Given the description of an element on the screen output the (x, y) to click on. 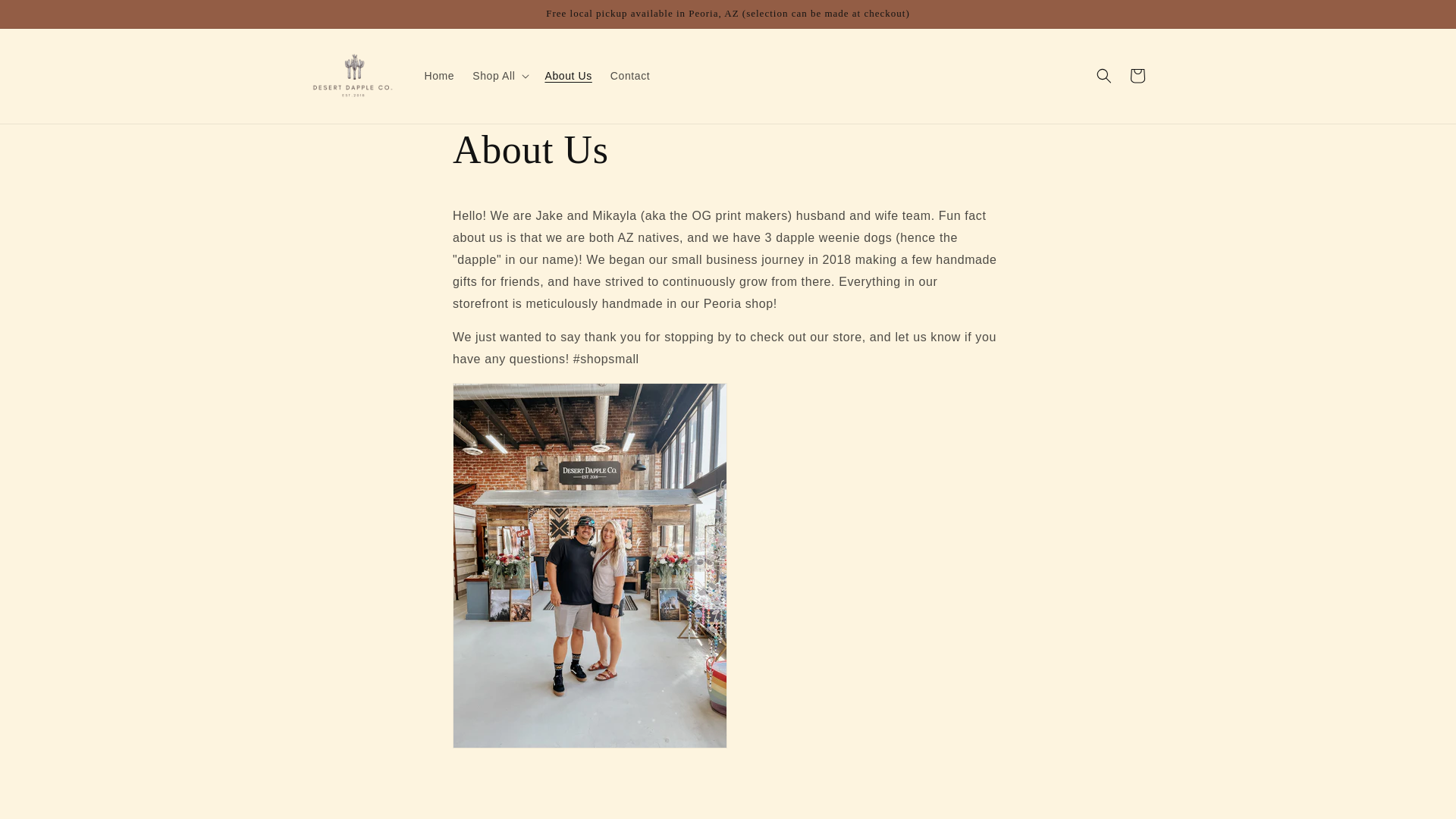
Skip to content (45, 17)
About Us (567, 75)
Cart (1137, 75)
Home (439, 75)
Contact (630, 75)
